Given the description of an element on the screen output the (x, y) to click on. 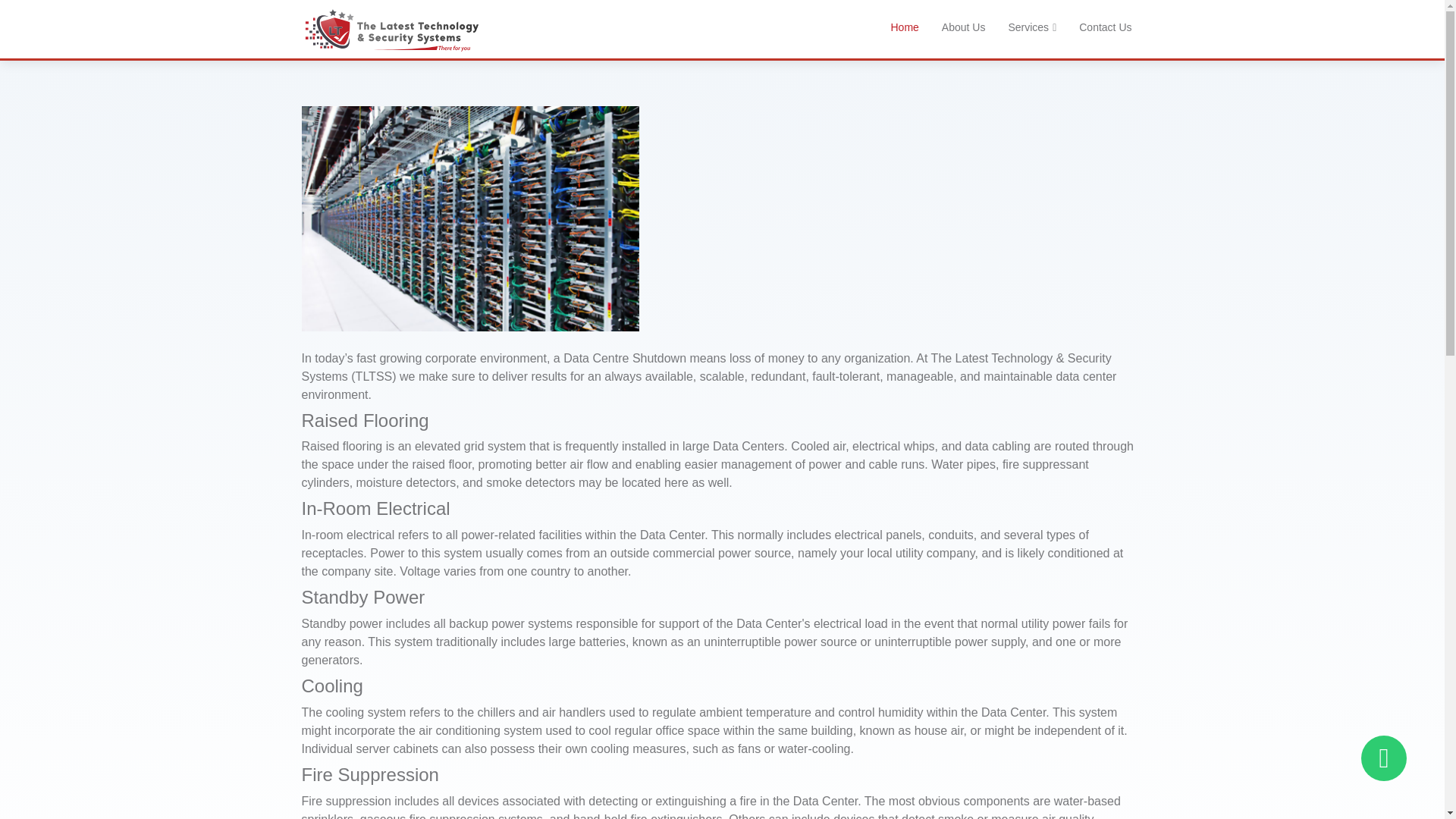
Home (904, 27)
Contact Us (1104, 27)
Services (1031, 27)
About Us (963, 27)
